Given the description of an element on the screen output the (x, y) to click on. 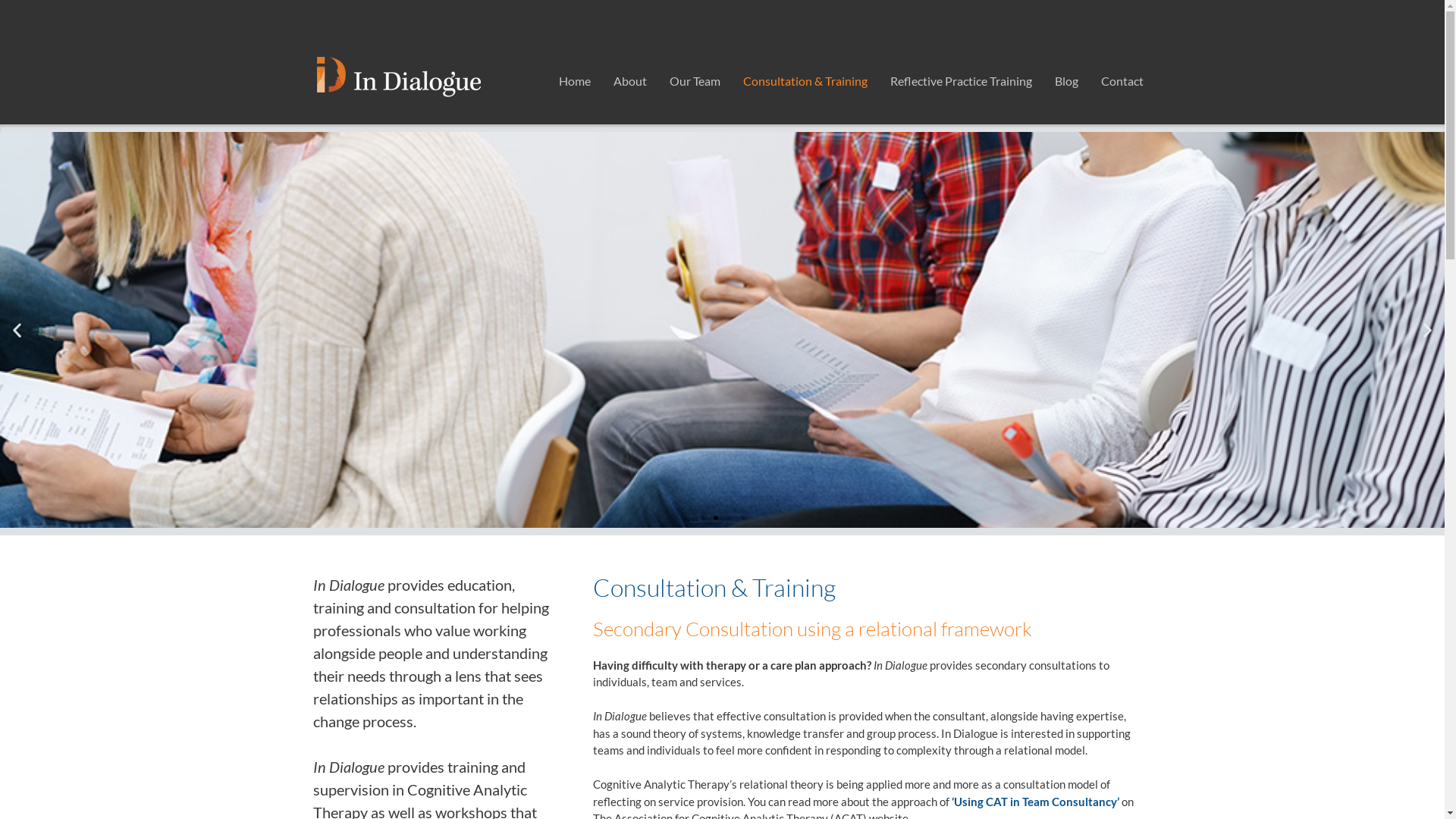
Consultation & Training Element type: text (804, 81)
Home Element type: text (574, 81)
About Element type: text (630, 81)
Reflective Practice Training Element type: text (960, 81)
Our Team Element type: text (694, 81)
Contact Element type: text (1121, 81)
Blog Element type: text (1066, 81)
